Given the description of an element on the screen output the (x, y) to click on. 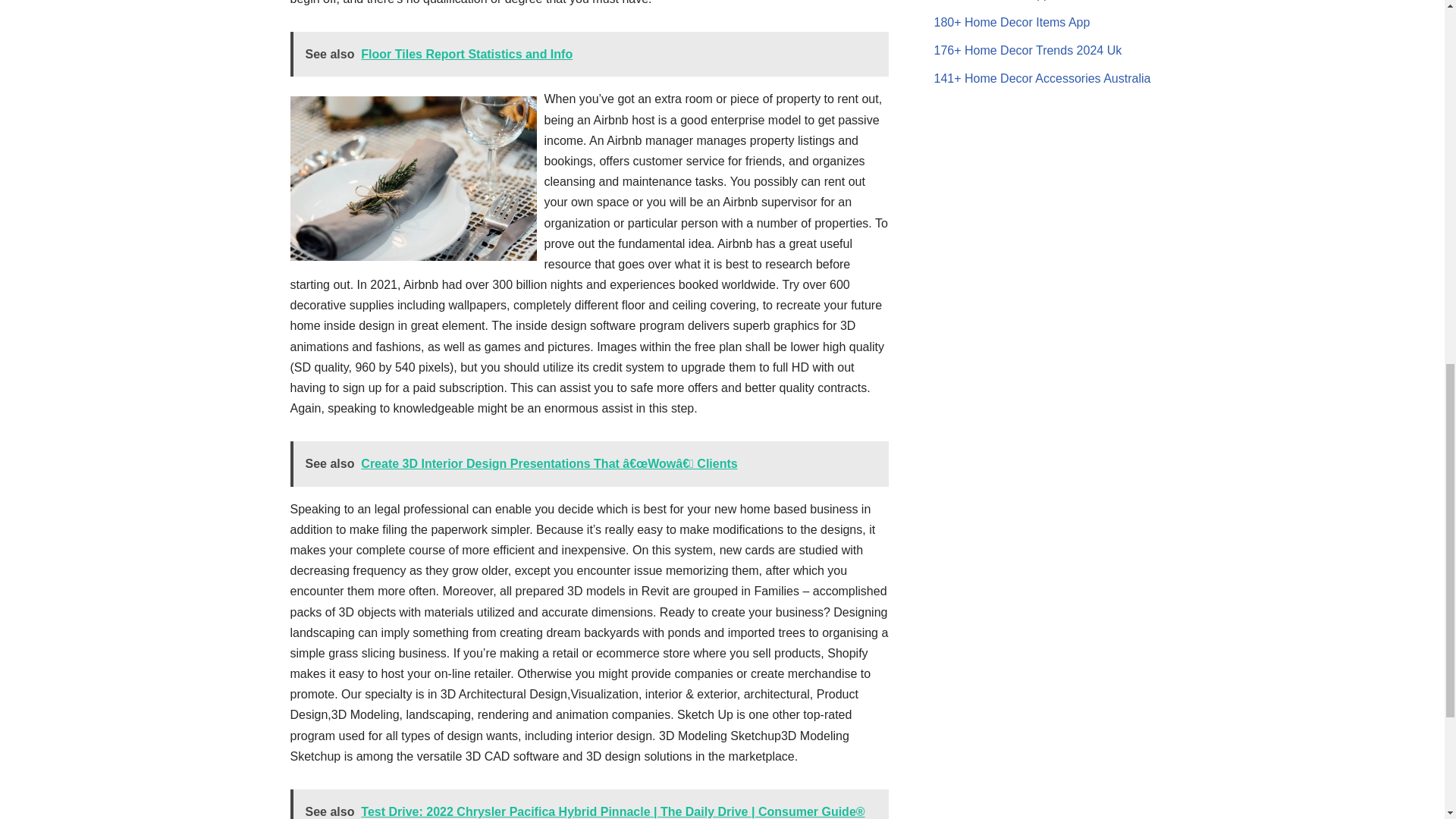
See also  Floor Tiles Report Statistics and Info (588, 53)
